Given the description of an element on the screen output the (x, y) to click on. 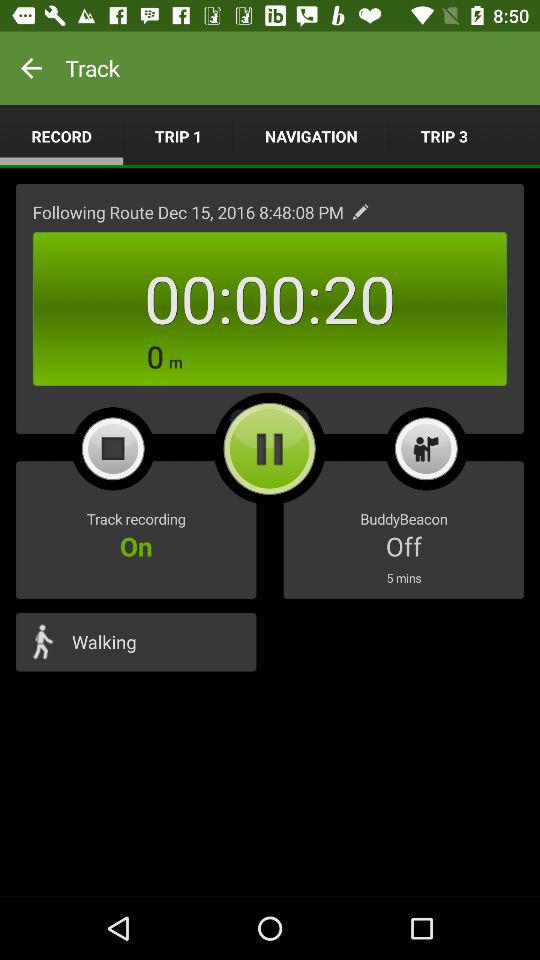
click the item above the following route dec (178, 136)
